Given the description of an element on the screen output the (x, y) to click on. 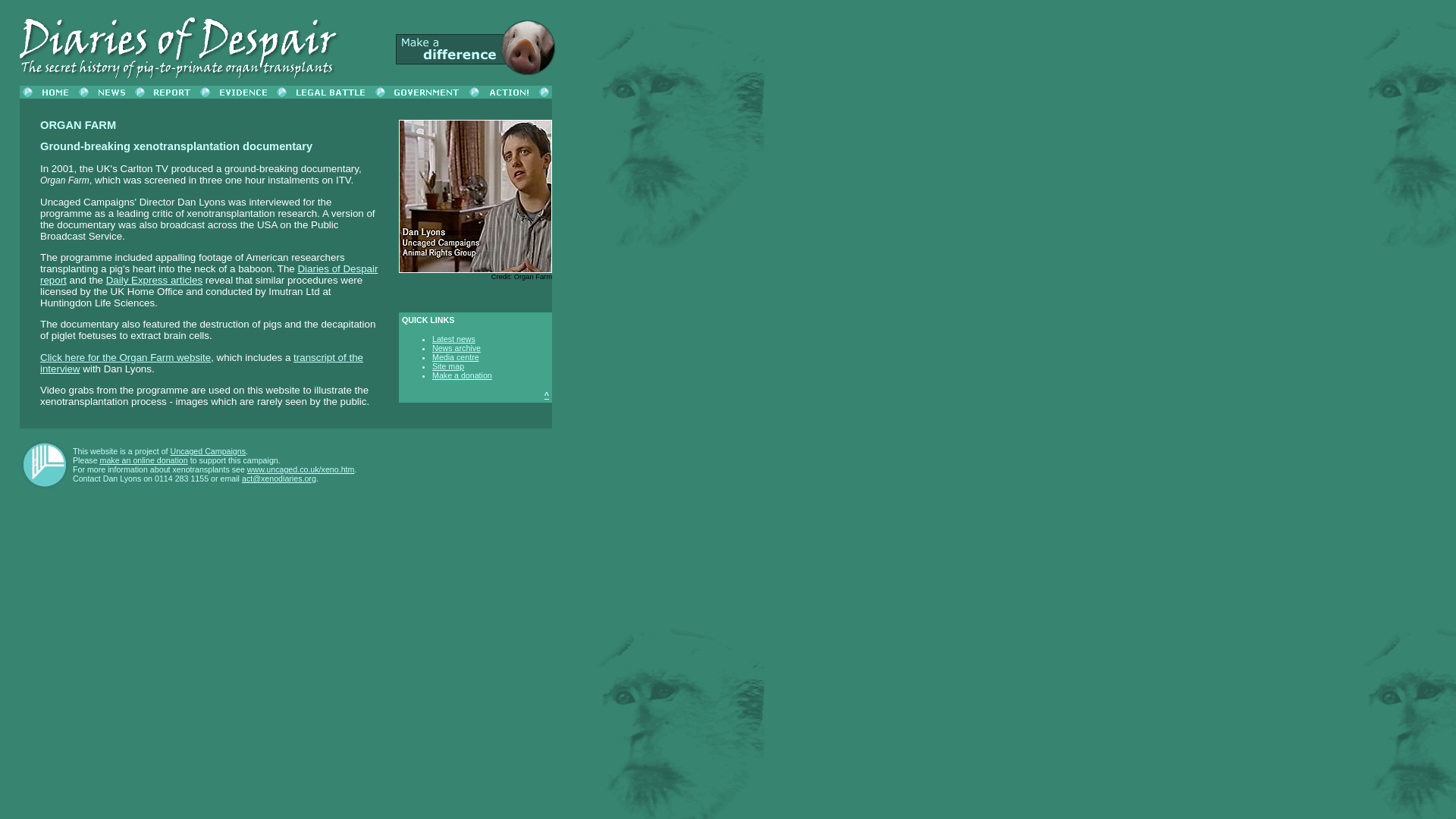
Make a donation (462, 375)
Daily Express articles (154, 279)
make an online donation (143, 460)
Diaries of Despair report (208, 273)
Media centre (455, 356)
Click here for the Organ Farm website (125, 357)
Site map (448, 366)
News archive (456, 347)
transcript of the interview (201, 363)
Organ Farm (532, 276)
